Given the description of an element on the screen output the (x, y) to click on. 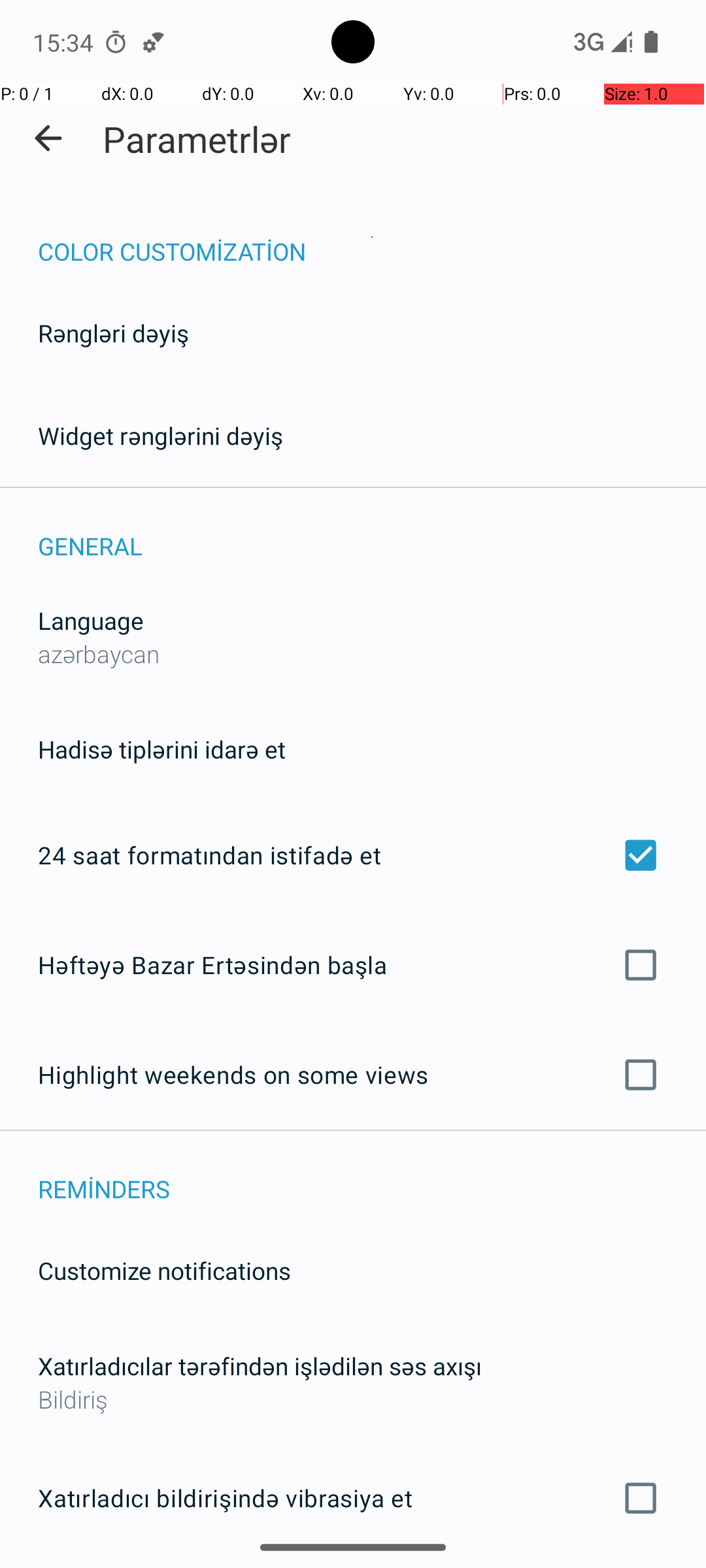
COLOR CUSTOMİZATİON Element type: android.widget.TextView (371, 237)
REMİNDERS Element type: android.widget.TextView (371, 1174)
Rəngləri dəyiş Element type: android.widget.TextView (112, 332)
Widget rənglərini dəyiş Element type: android.widget.TextView (160, 435)
azərbaycan Element type: android.widget.TextView (98, 653)
Hadisə tiplərini idarə et Element type: android.widget.TextView (161, 748)
24 saat formatından istifadə et Element type: android.widget.CheckBox (352, 855)
Həftəyə Bazar Ertəsindən başla Element type: android.widget.CheckBox (352, 964)
Xatırladıcılar tərəfindən işlədilən səs axışı Element type: android.widget.TextView (259, 1365)
Bildiriş Element type: android.widget.TextView (352, 1398)
Xatırladıcı bildirişində vibrasiya et Element type: android.widget.CheckBox (352, 1497)
Buraxılana qədər xatırladıcıları təkrarla Element type: android.widget.CheckBox (352, 1567)
